Given the description of an element on the screen output the (x, y) to click on. 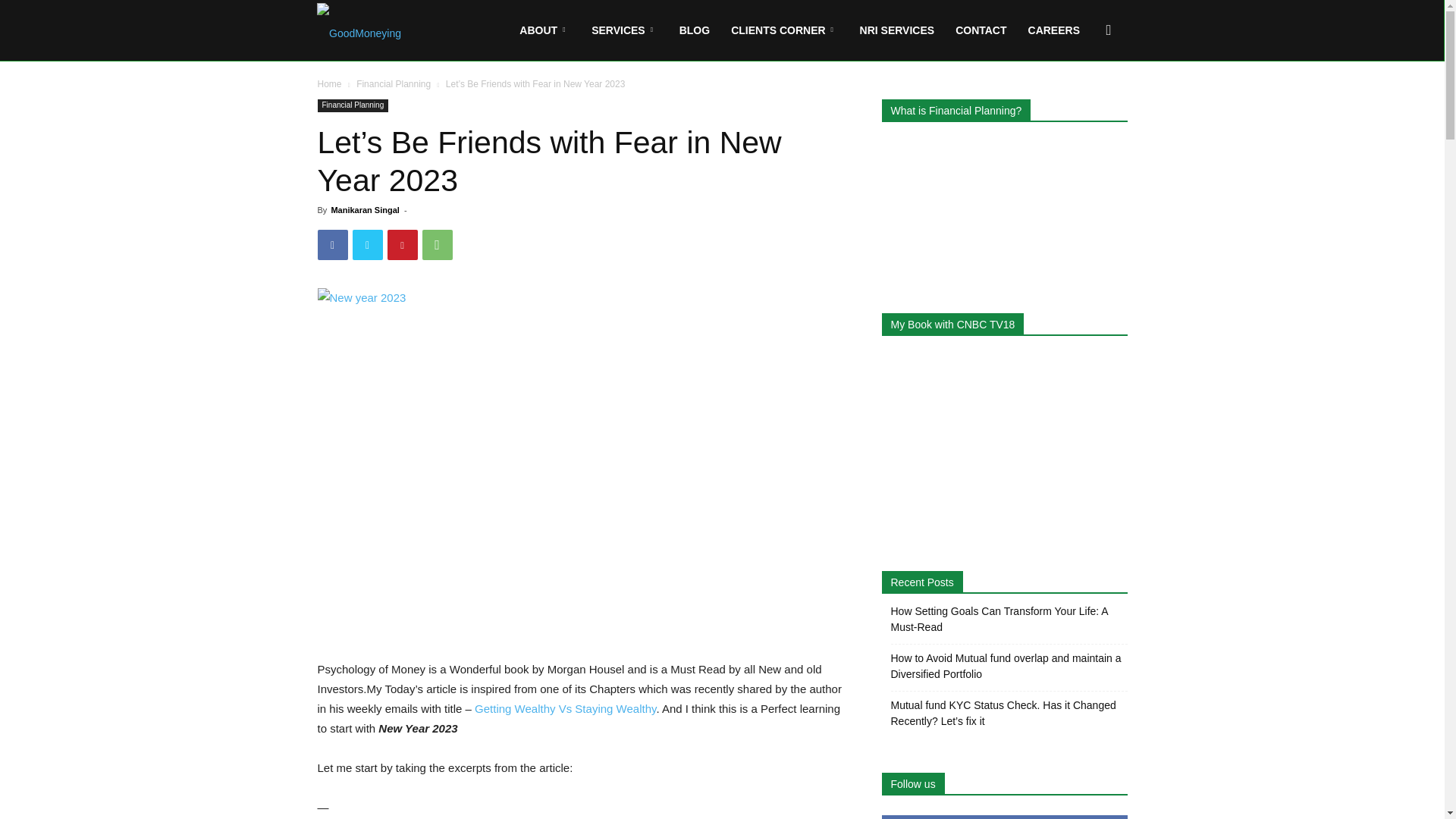
WhatsApp (436, 245)
Facebook (332, 245)
Twitter (366, 245)
View all posts in Financial Planning (393, 83)
CLIENTS CORNER (784, 30)
GoodMoneying (359, 30)
Pinterest (401, 245)
ABOUT (544, 30)
Search (1085, 102)
SERVICES (624, 30)
